Given the description of an element on the screen output the (x, y) to click on. 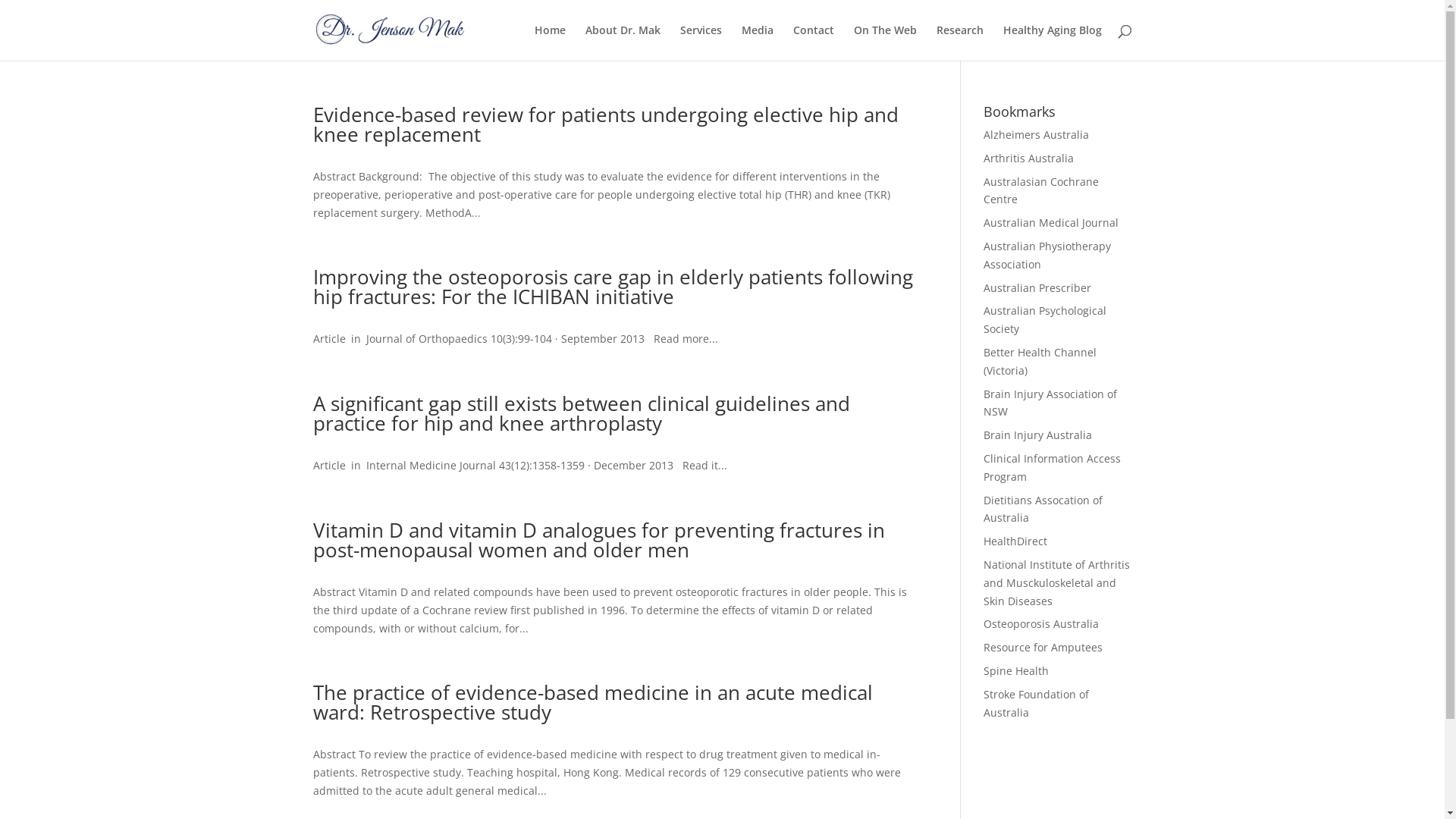
Dietitians Assocation of Australia Element type: text (1042, 508)
Research Element type: text (958, 42)
About Dr. Mak Element type: text (622, 42)
Alzheimers Australia Element type: text (1035, 134)
Arthritis Australia Element type: text (1028, 157)
Healthy Aging Blog Element type: text (1051, 42)
Australasian Cochrane Centre Element type: text (1040, 190)
Better Health Channel (Victoria) Element type: text (1039, 361)
Resource for Amputees Element type: text (1042, 647)
Australian Prescriber Element type: text (1037, 287)
Stroke Foundation of Australia Element type: text (1035, 703)
Osteoporosis Australia Element type: text (1040, 623)
Contact Element type: text (813, 42)
Brain Injury Australia Element type: text (1037, 434)
Spine Health Element type: text (1015, 670)
Media Element type: text (757, 42)
On The Web Element type: text (884, 42)
Brain Injury Association of NSW Element type: text (1050, 402)
Home Element type: text (548, 42)
Clinical Information Access Program Element type: text (1051, 467)
Services Element type: text (700, 42)
Australian Psychological Society Element type: text (1044, 319)
Australian Physiotherapy Association Element type: text (1046, 254)
HealthDirect Element type: text (1015, 540)
Australian Medical Journal Element type: text (1050, 222)
